Given the description of an element on the screen output the (x, y) to click on. 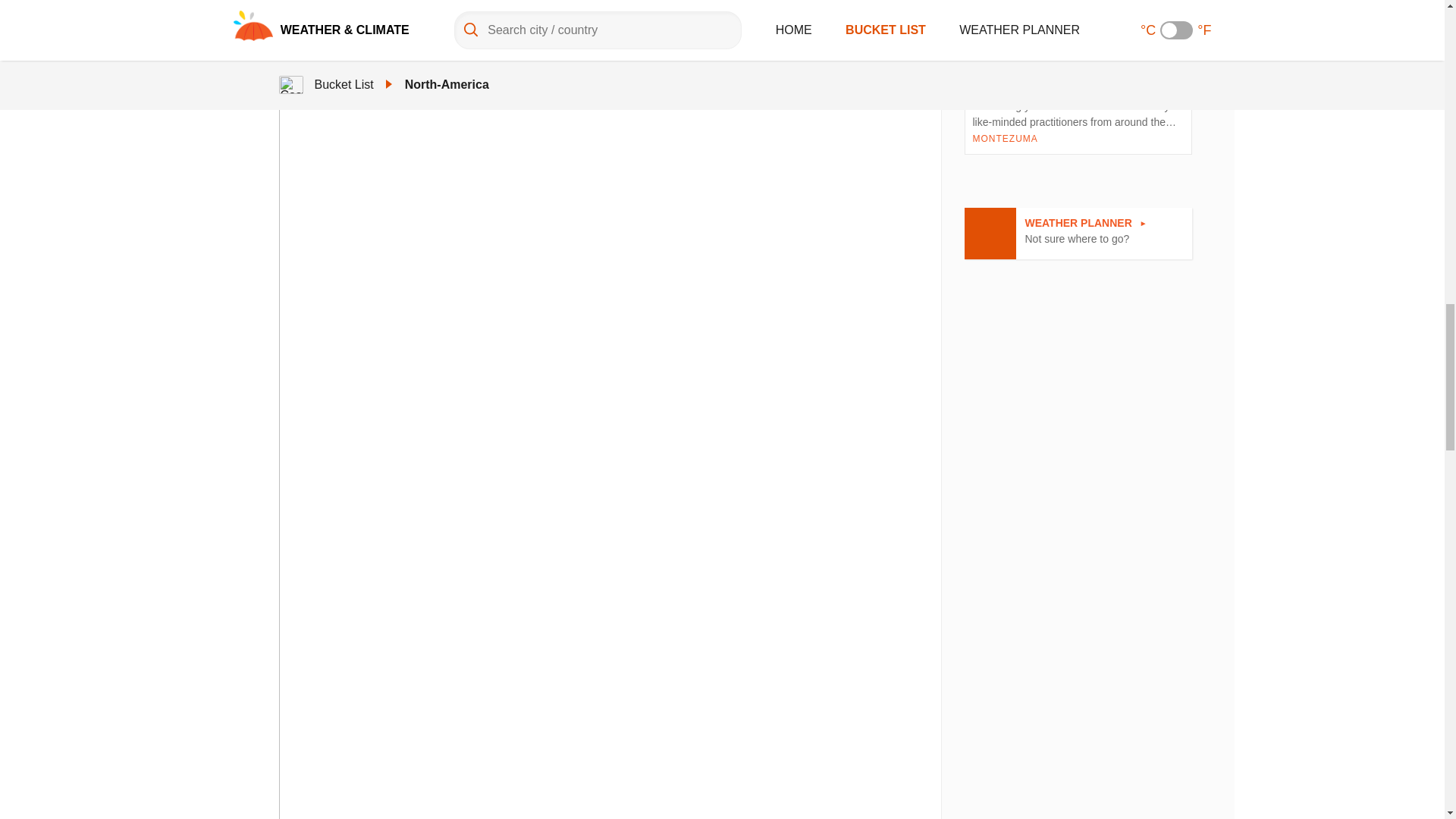
MONTEZUMA (1077, 233)
One of the coolest Yoga Ashrams in the world (1004, 138)
